Given the description of an element on the screen output the (x, y) to click on. 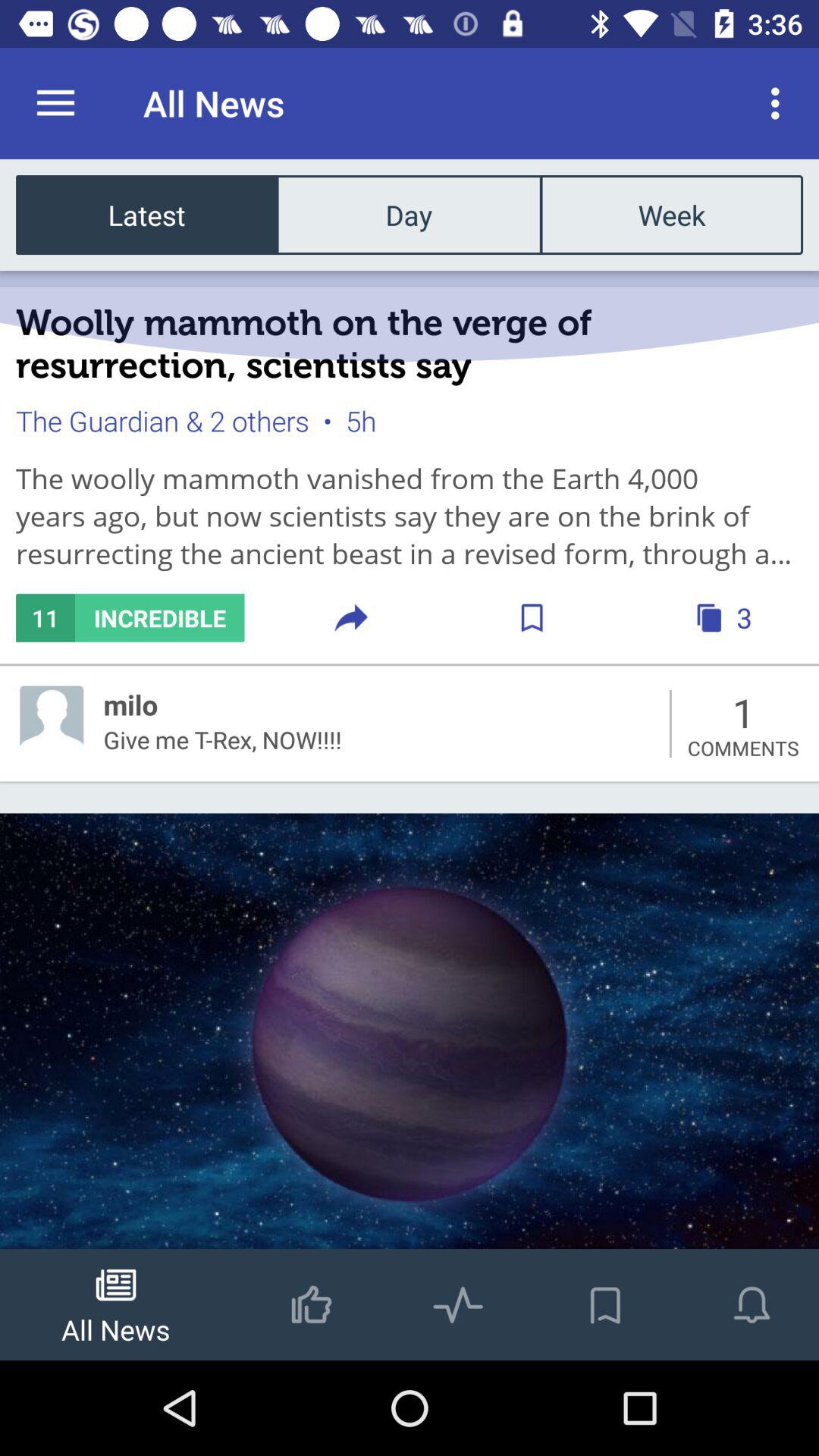
choose the icon to the left of week (409, 214)
